Given the description of an element on the screen output the (x, y) to click on. 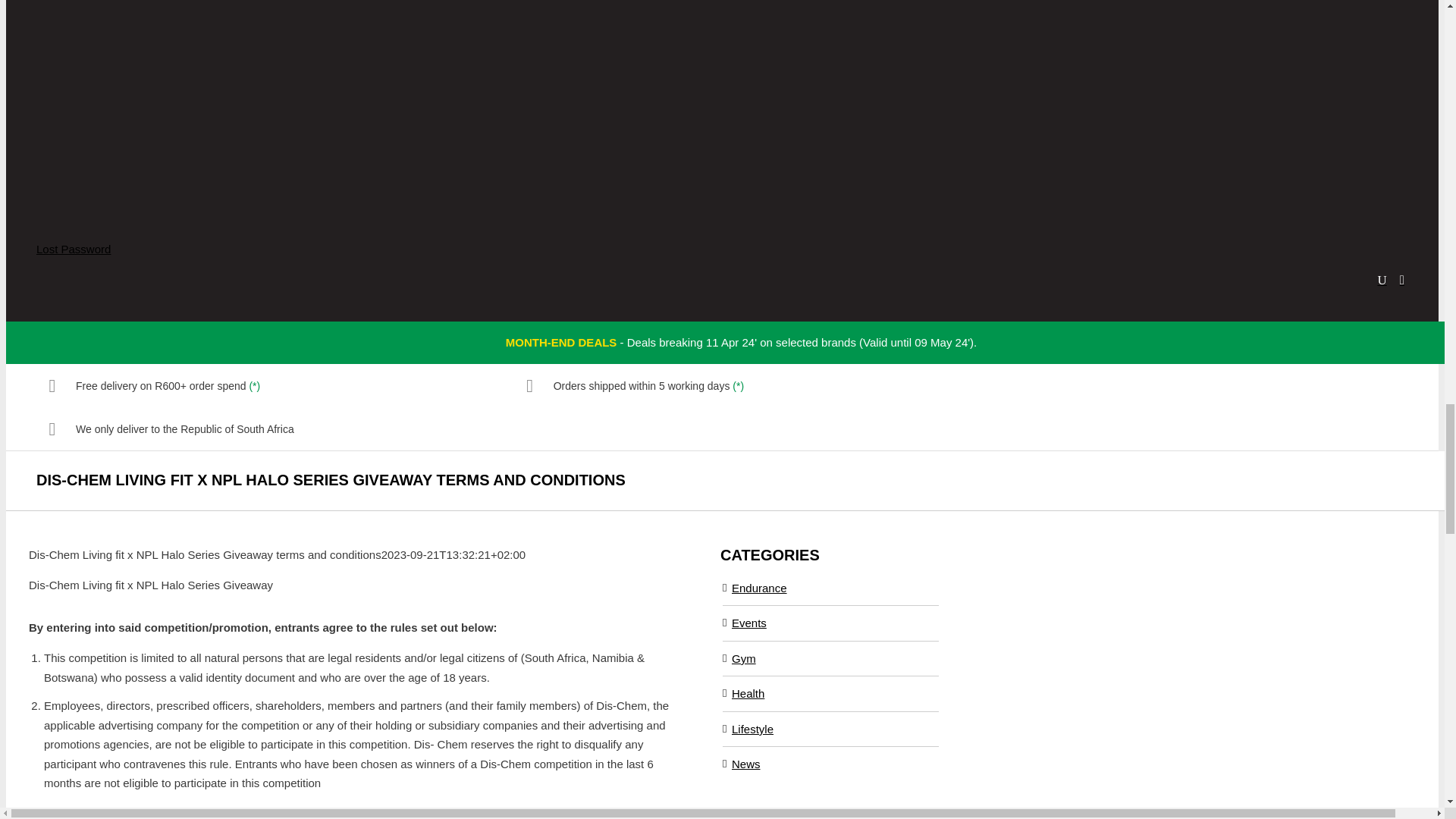
Page 1 (356, 585)
Page 1 (356, 733)
